Given the description of an element on the screen output the (x, y) to click on. 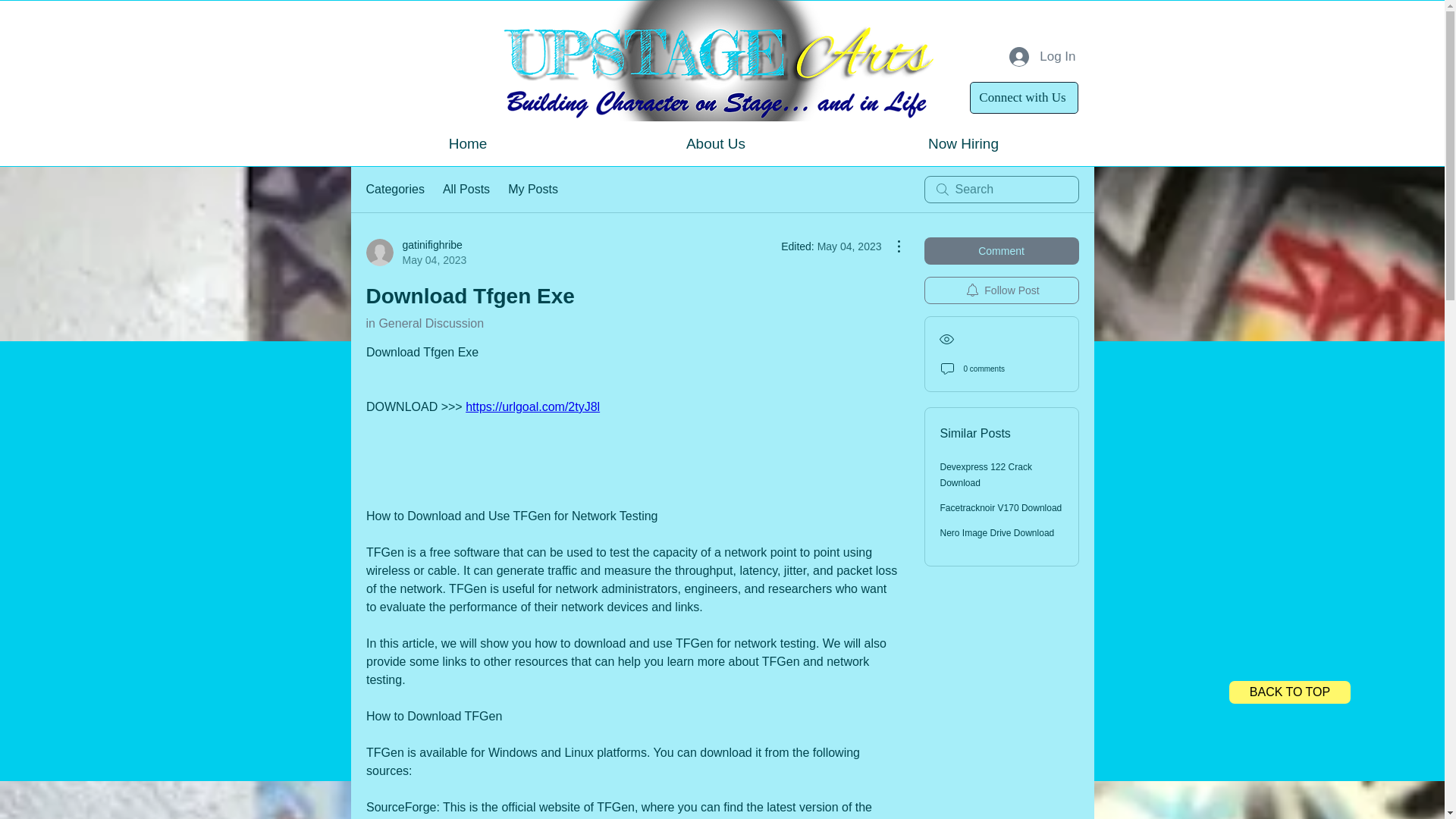
Devexpress 122 Crack Download (986, 474)
Log In (1042, 56)
Home (467, 143)
Connect with Us (1023, 97)
Facetracknoir V170 Download (1001, 507)
All Posts (465, 189)
Comment (415, 252)
Nero Image Drive Download (1000, 250)
Follow Post (997, 532)
Now Hiring (1000, 289)
About Us (963, 143)
My Posts (715, 143)
Categories (532, 189)
in General Discussion (394, 189)
